Given the description of an element on the screen output the (x, y) to click on. 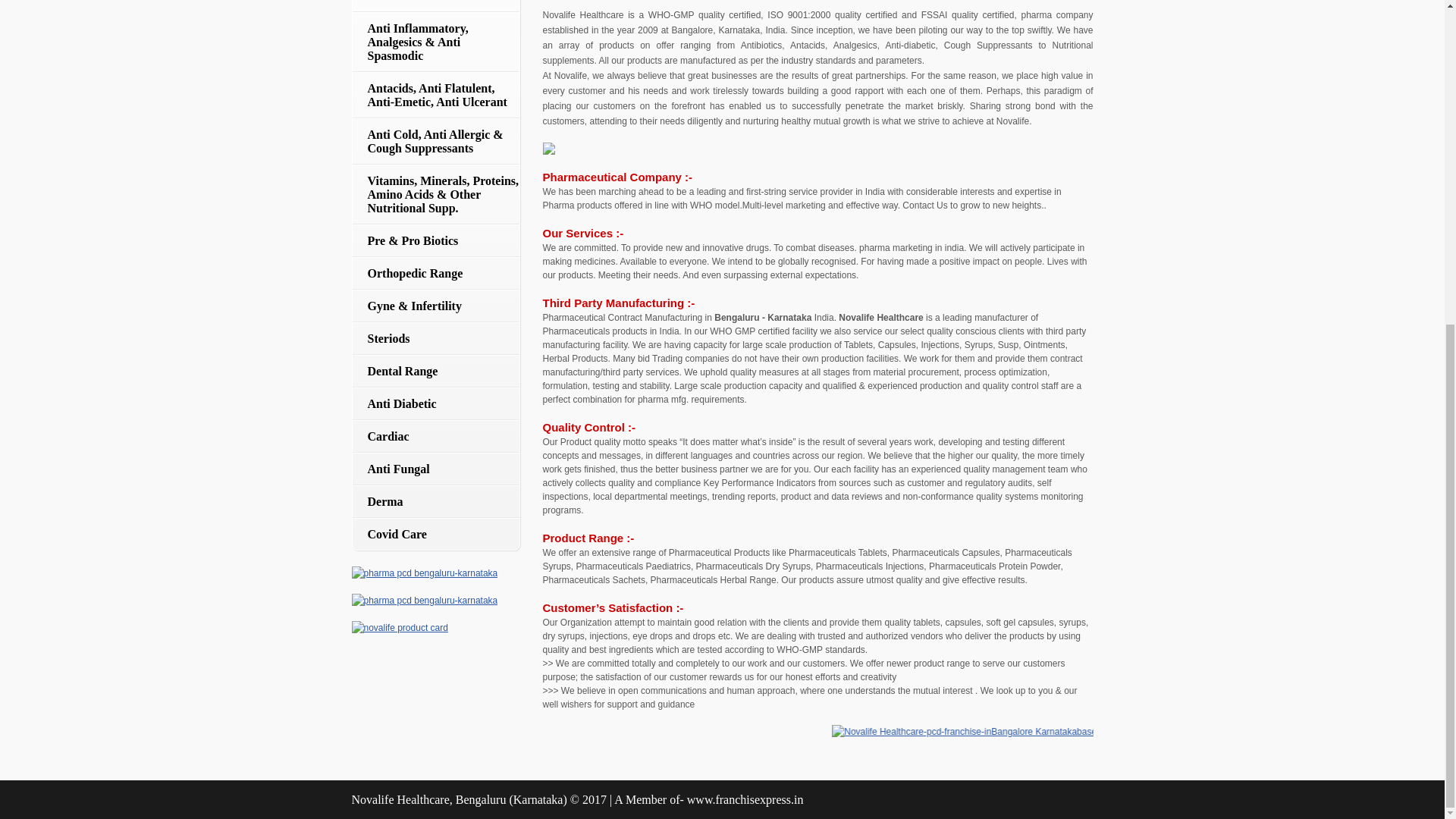
Orthopedic Range (435, 273)
Antacids, Anti Flatulent, Anti-Emetic, Anti Ulcerant (435, 94)
Cardiac (435, 436)
pharmaceutical franchise bengaluru-karnataka (400, 627)
Steriods (435, 337)
pharmaceutical franchise bengaluru-karnataka (424, 572)
Anti Biotics (435, 5)
Anti Fungal (435, 468)
Covid Care (435, 533)
Dental Range (435, 370)
